Given the description of an element on the screen output the (x, y) to click on. 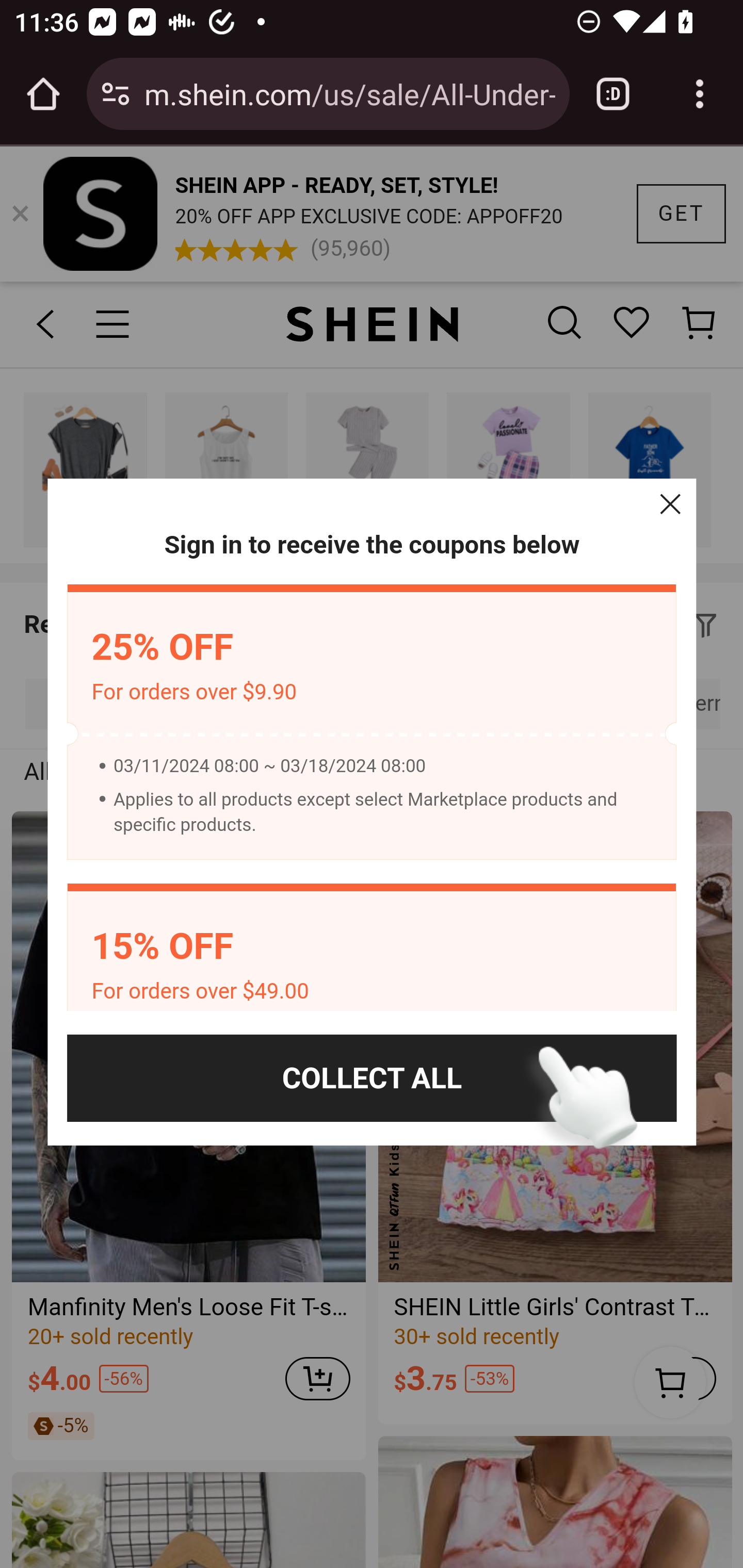
Open the home page (43, 93)
Connection is secure (115, 93)
Switch or close tabs (612, 93)
Customize and control Google Chrome (699, 93)
Close (669, 503)
COLLECT ALL (371, 1077)
